Given the description of an element on the screen output the (x, y) to click on. 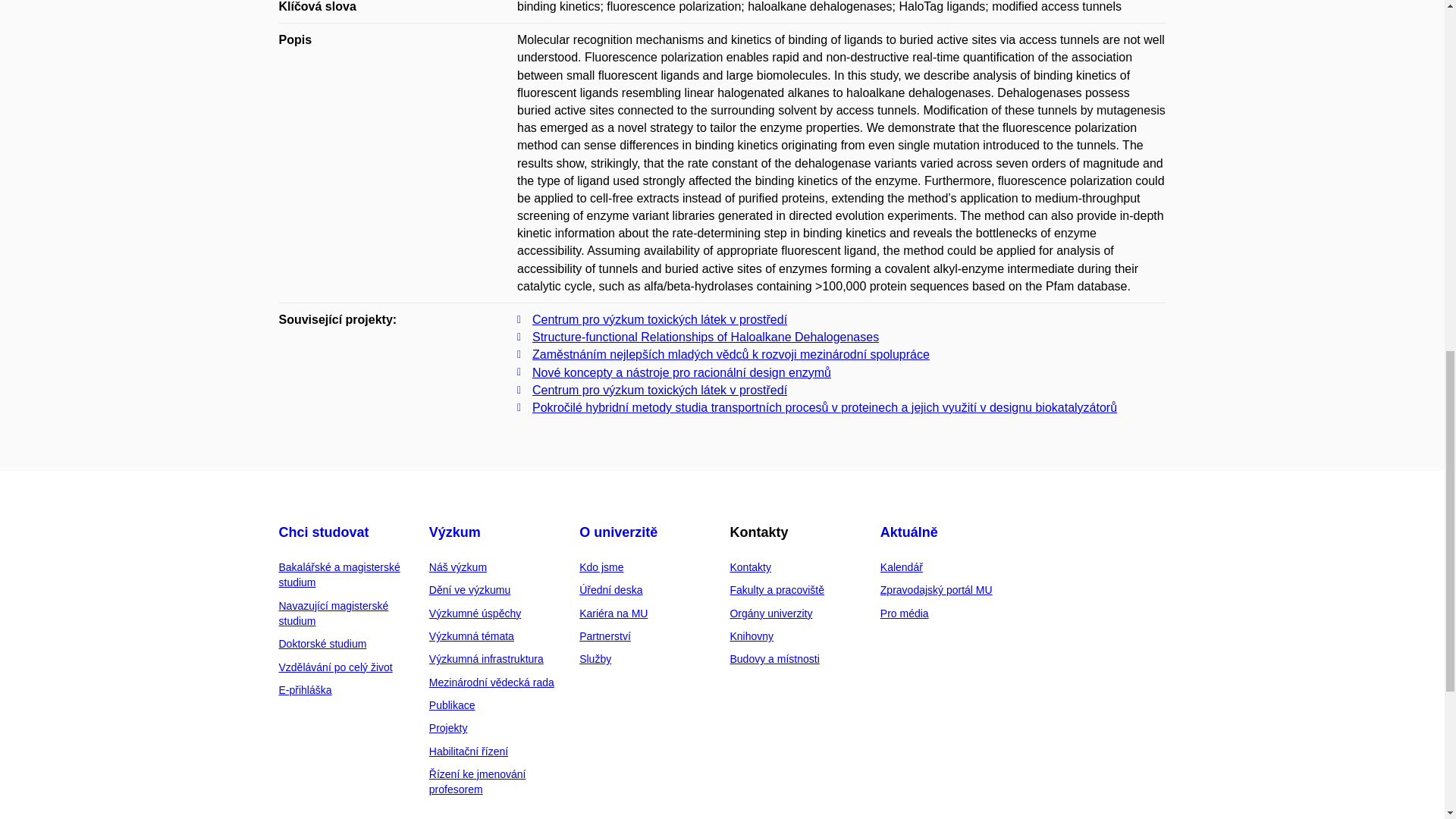
Chci studovat (324, 531)
Publikace (452, 705)
Projekty (448, 727)
